Given the description of an element on the screen output the (x, y) to click on. 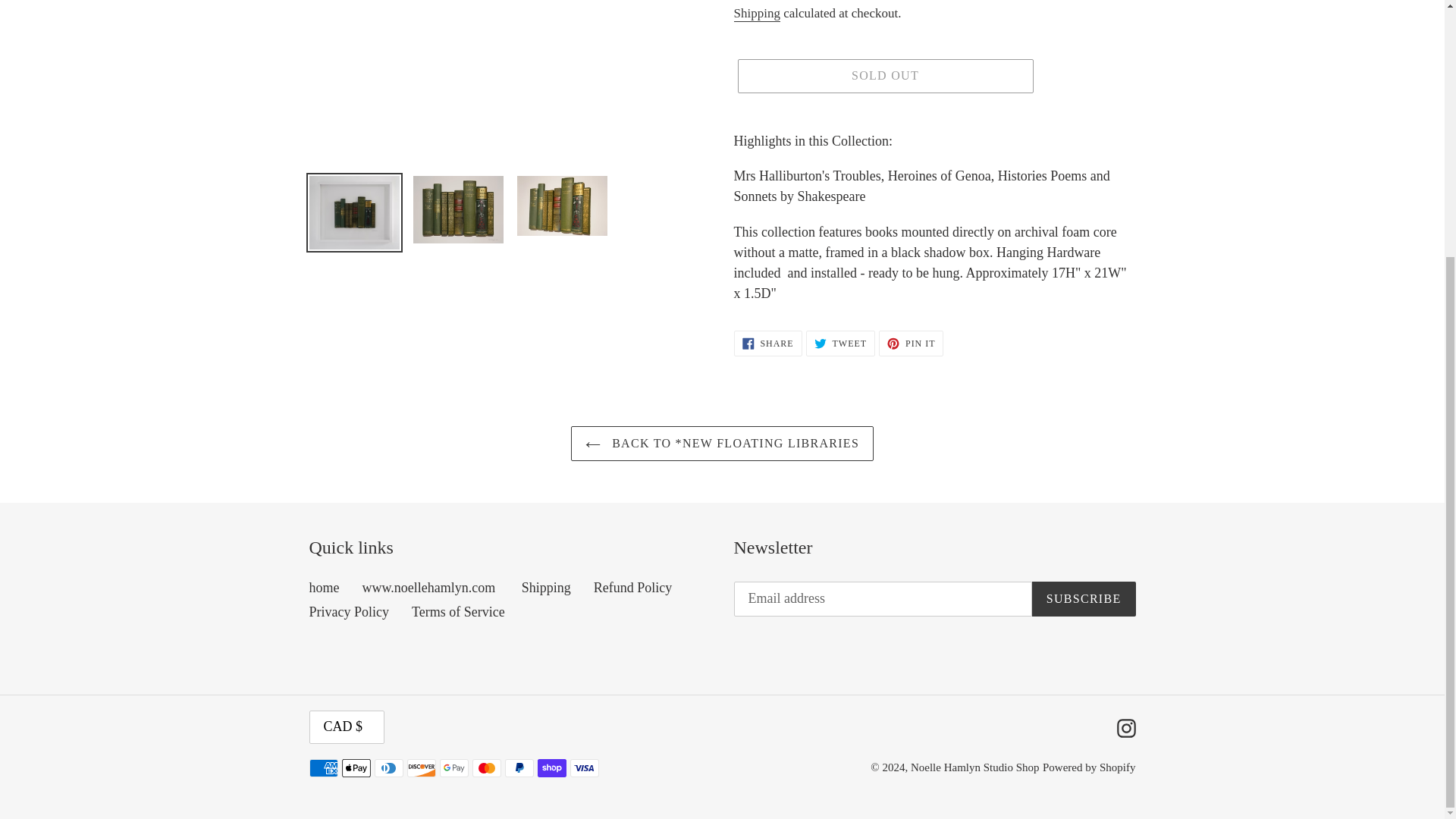
Shipping (756, 13)
Privacy Policy (911, 343)
Refund Policy (349, 611)
Terms of Service (840, 343)
SOLD OUT (633, 587)
home (458, 611)
Shipping (884, 75)
www.noellehamlyn.com  (323, 587)
